Given the description of an element on the screen output the (x, y) to click on. 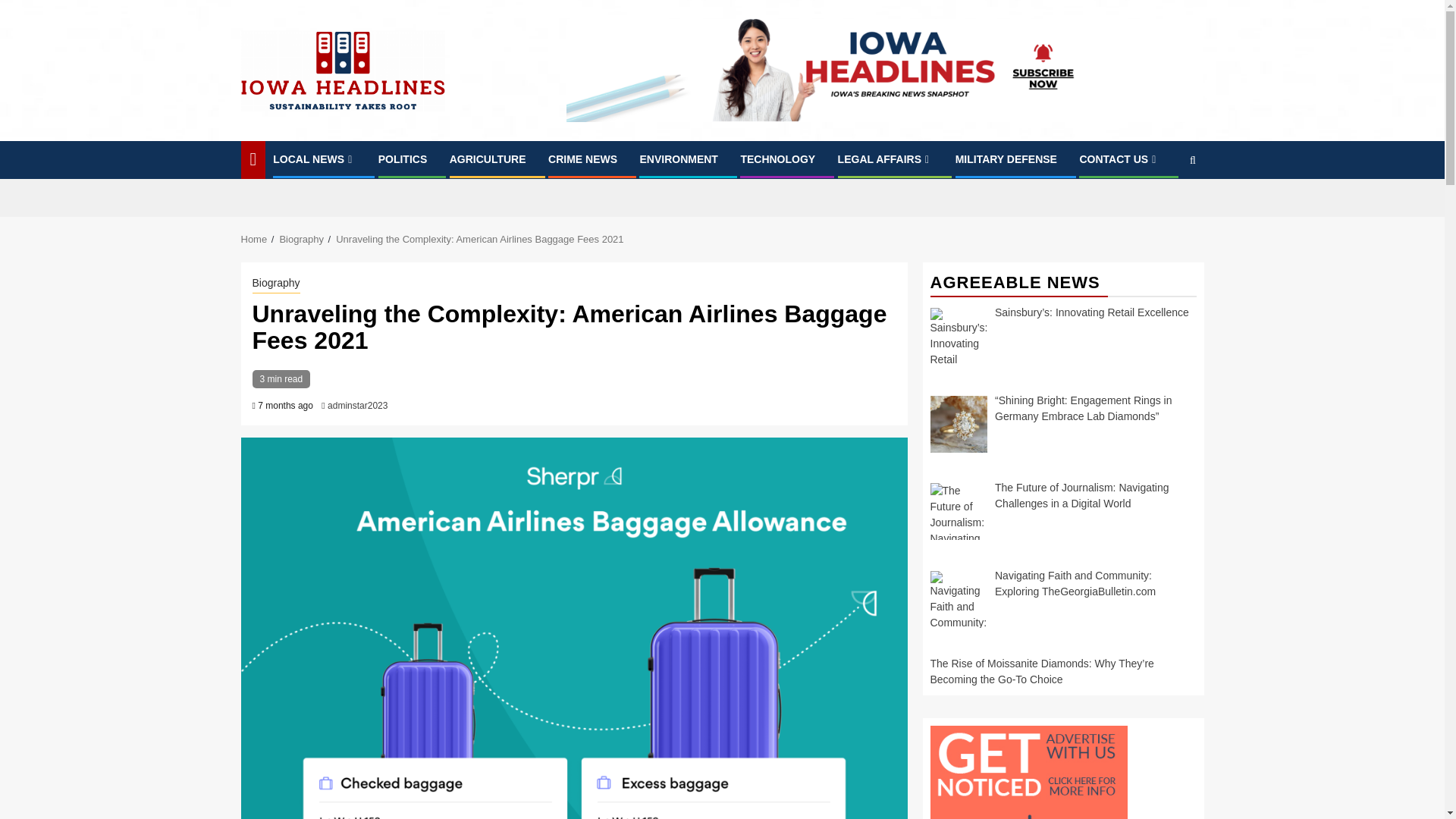
Biography (301, 238)
TECHNOLOGY (777, 159)
LOCAL NEWS (314, 159)
POLITICS (403, 159)
CONTACT US (1118, 159)
Home (254, 238)
ENVIRONMENT (678, 159)
CRIME NEWS (582, 159)
Search (1163, 205)
AGRICULTURE (487, 159)
adminstar2023 (357, 405)
LEGAL AFFAIRS (885, 159)
